Given the description of an element on the screen output the (x, y) to click on. 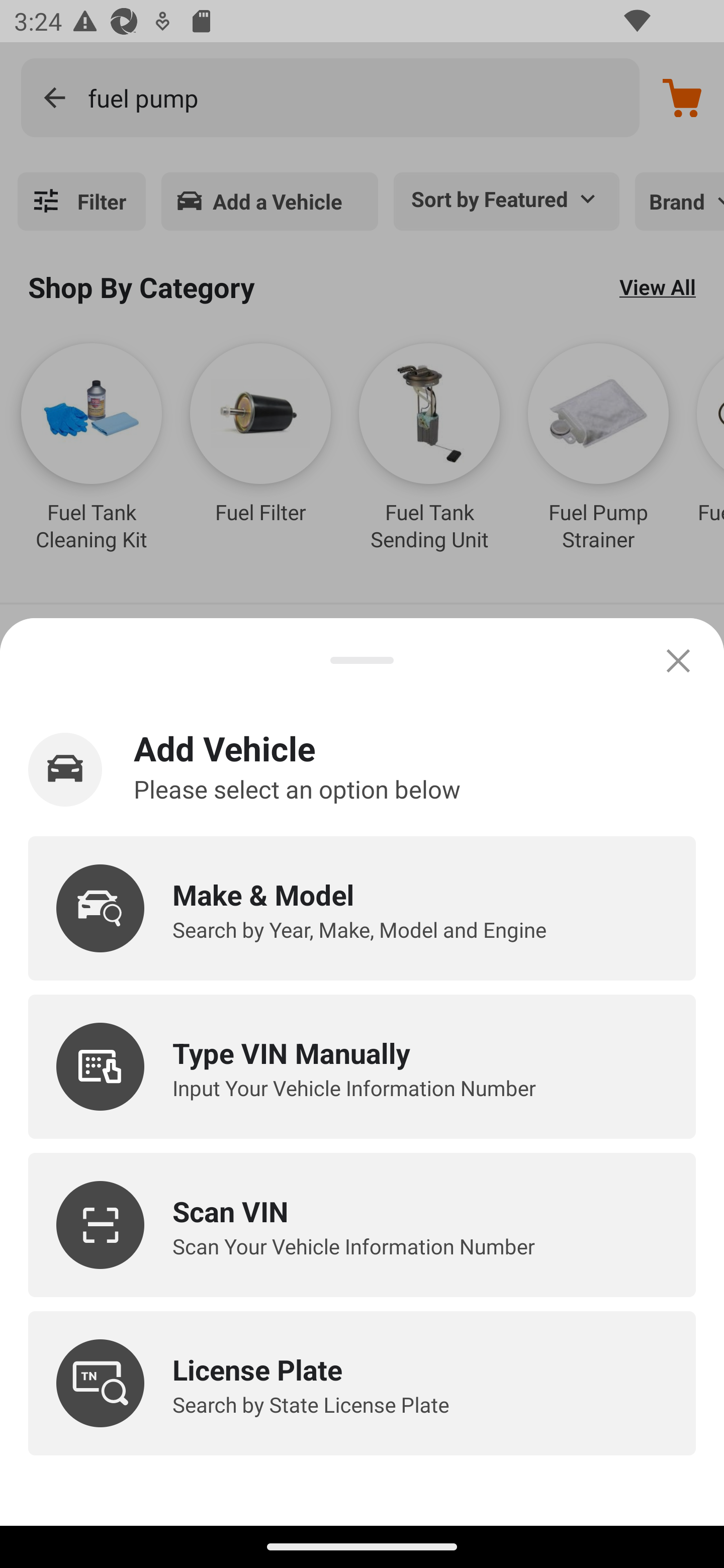
Close Modal  (677, 659)
